Given the description of an element on the screen output the (x, y) to click on. 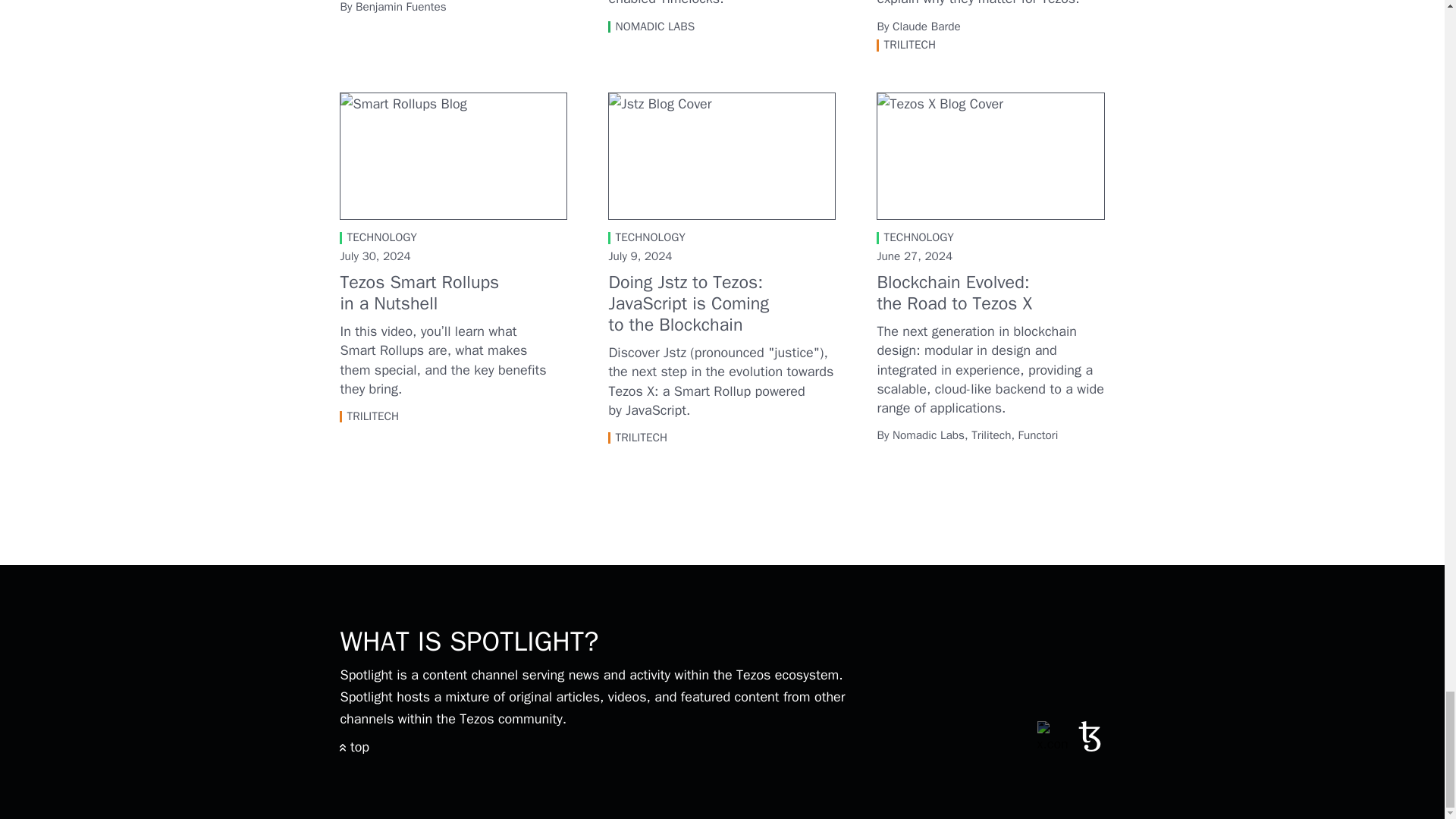
Tezos (1088, 746)
x.com (1051, 736)
